Given the description of an element on the screen output the (x, y) to click on. 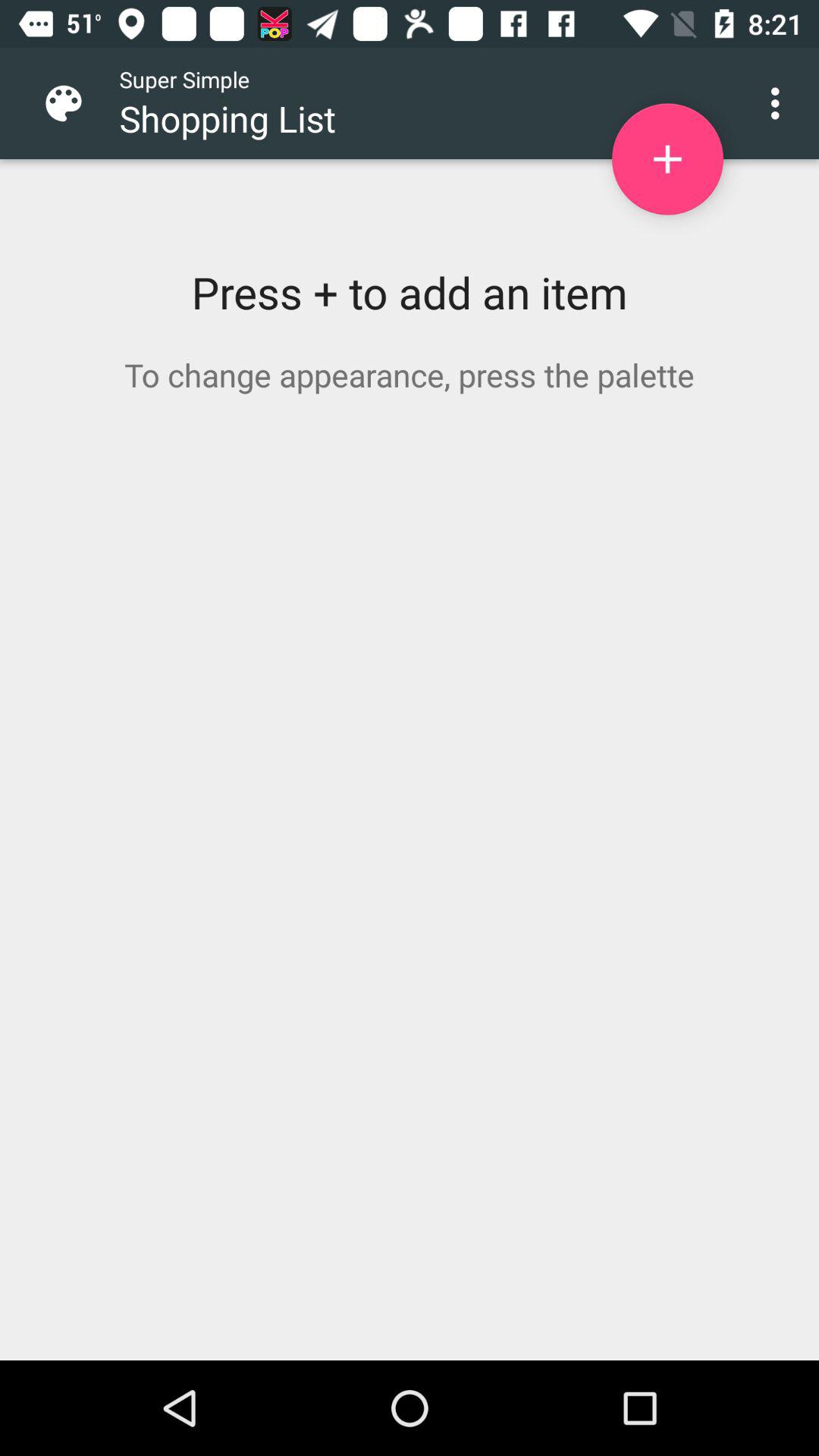
press item above the to change appearance icon (667, 158)
